Given the description of an element on the screen output the (x, y) to click on. 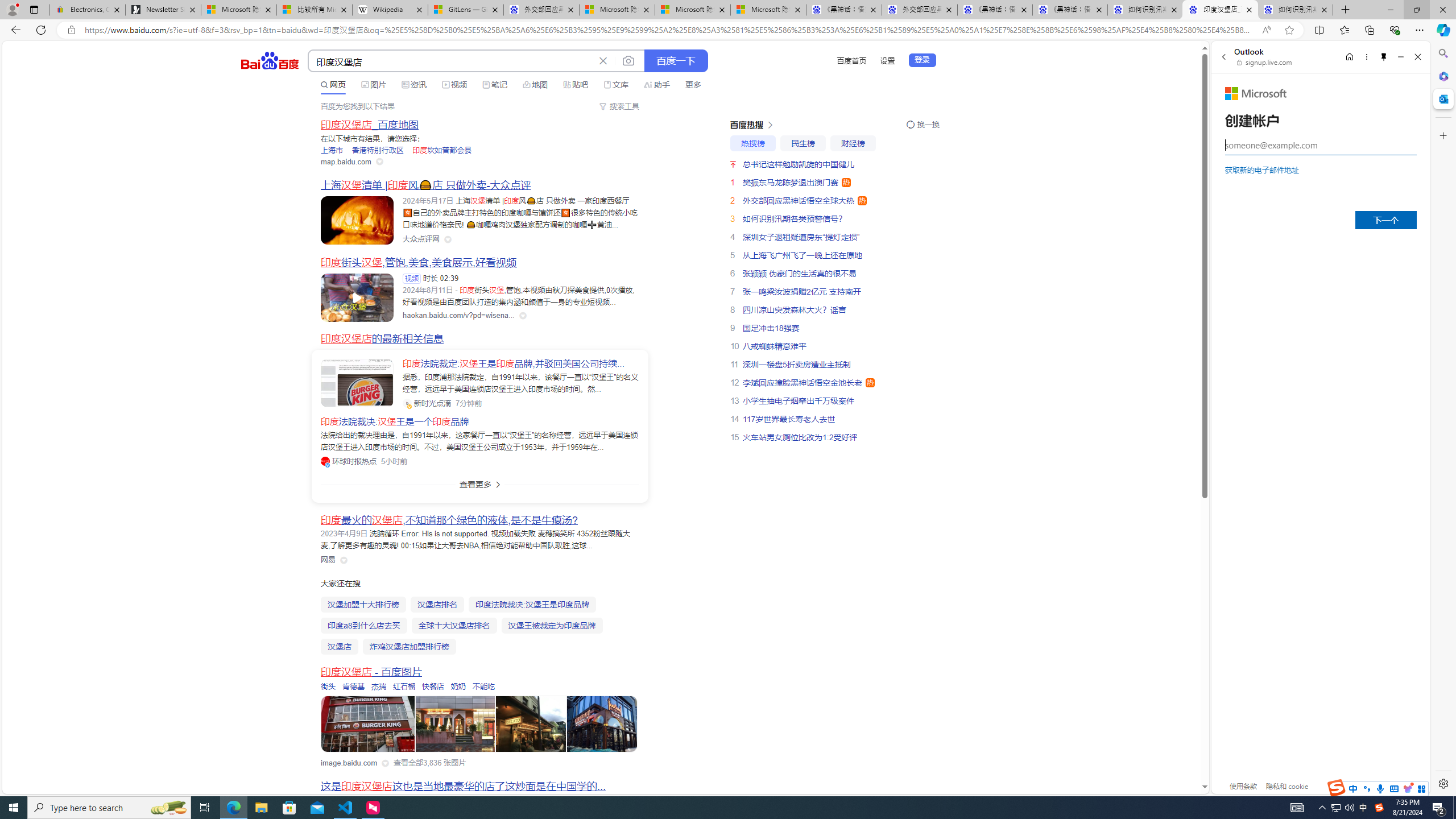
To get missing image descriptions, open the context menu. (368, 724)
